Given the description of an element on the screen output the (x, y) to click on. 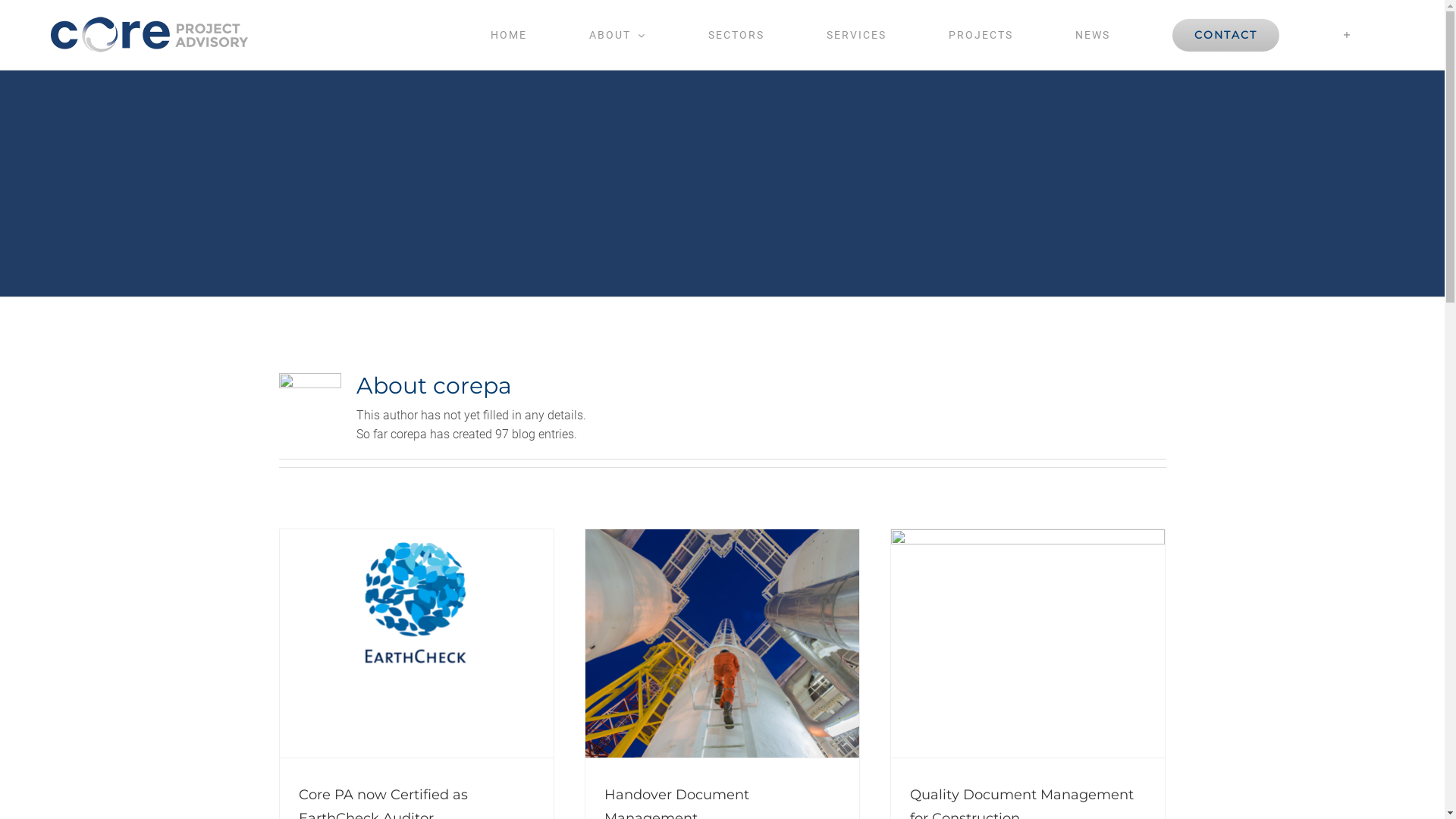
PROJECTS Element type: text (980, 34)
CONTACT Element type: text (1225, 34)
Toggle Sliding Bar Element type: hover (1346, 34)
SECTORS Element type: text (735, 34)
SERVICES Element type: text (855, 34)
HOME Element type: text (508, 34)
NEWS Element type: text (1092, 34)
ABOUT Element type: text (617, 34)
